Given the description of an element on the screen output the (x, y) to click on. 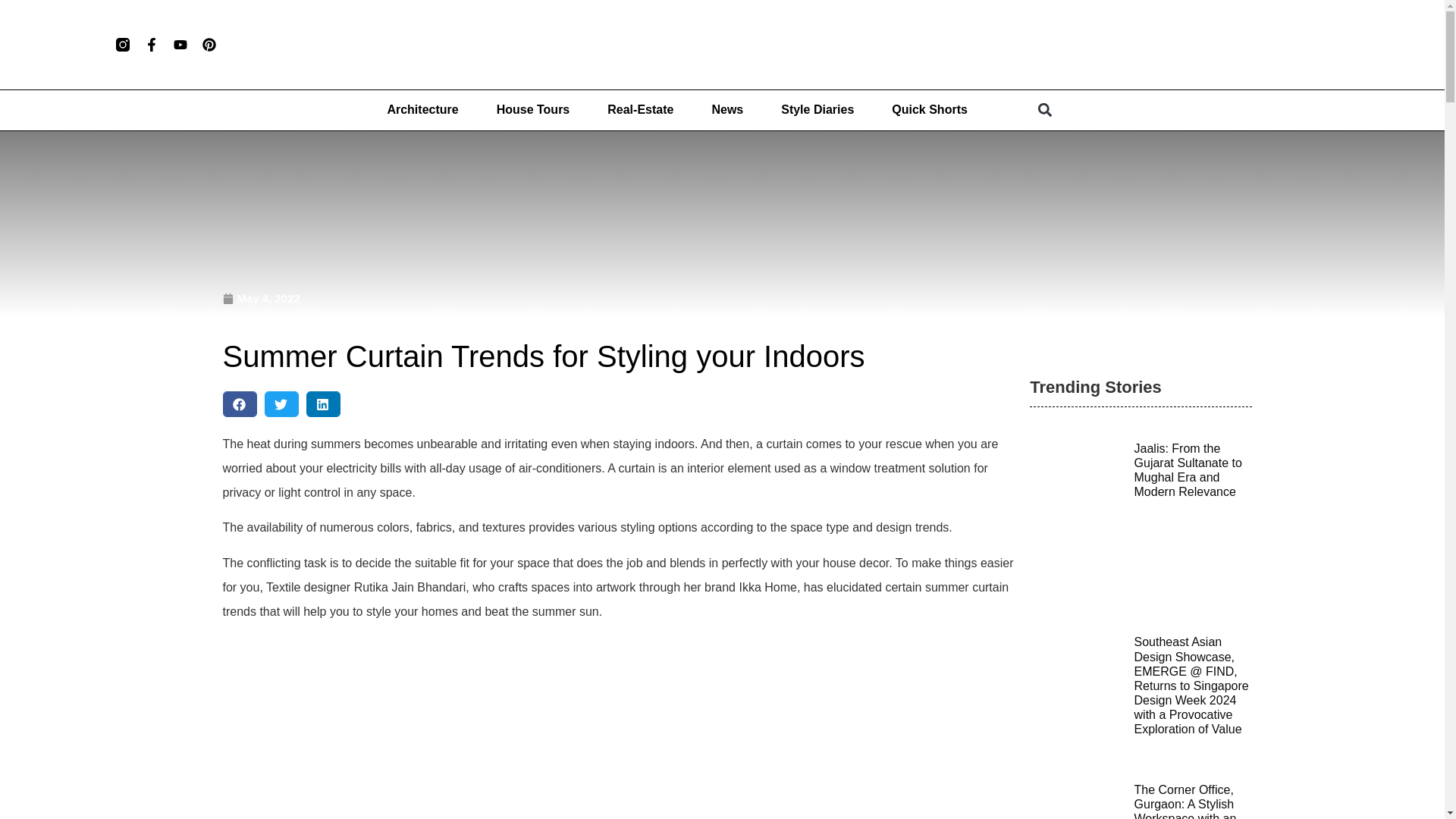
News (726, 109)
Quick Shorts (929, 109)
Real-Estate (639, 109)
Summer Curtain Trends for Styling your Indoors 1 (618, 726)
May 4, 2022 (260, 298)
House Tours (533, 109)
Style Diaries (816, 109)
Architecture (422, 109)
